Given the description of an element on the screen output the (x, y) to click on. 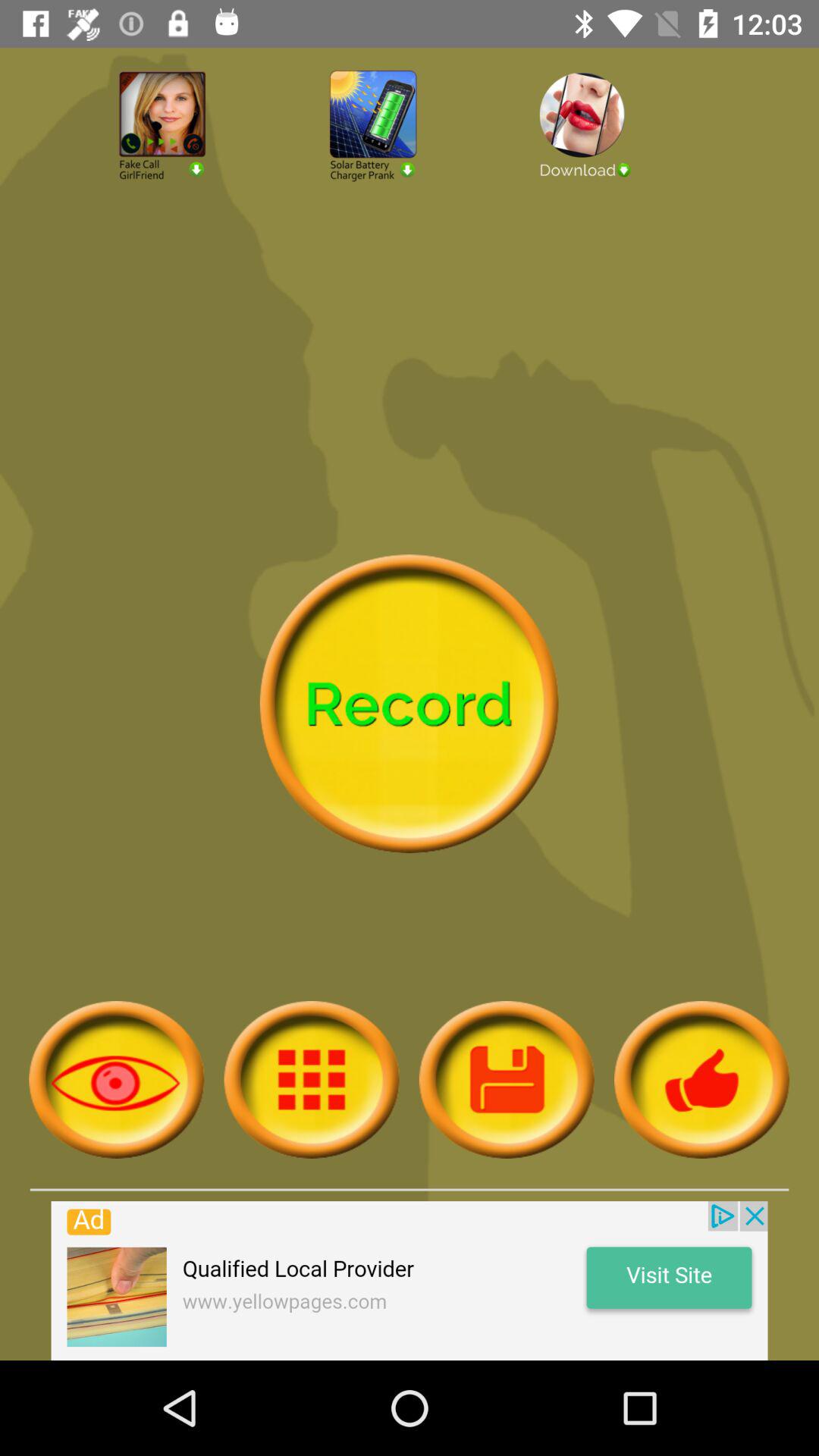
go to advertisement website (409, 1280)
